Given the description of an element on the screen output the (x, y) to click on. 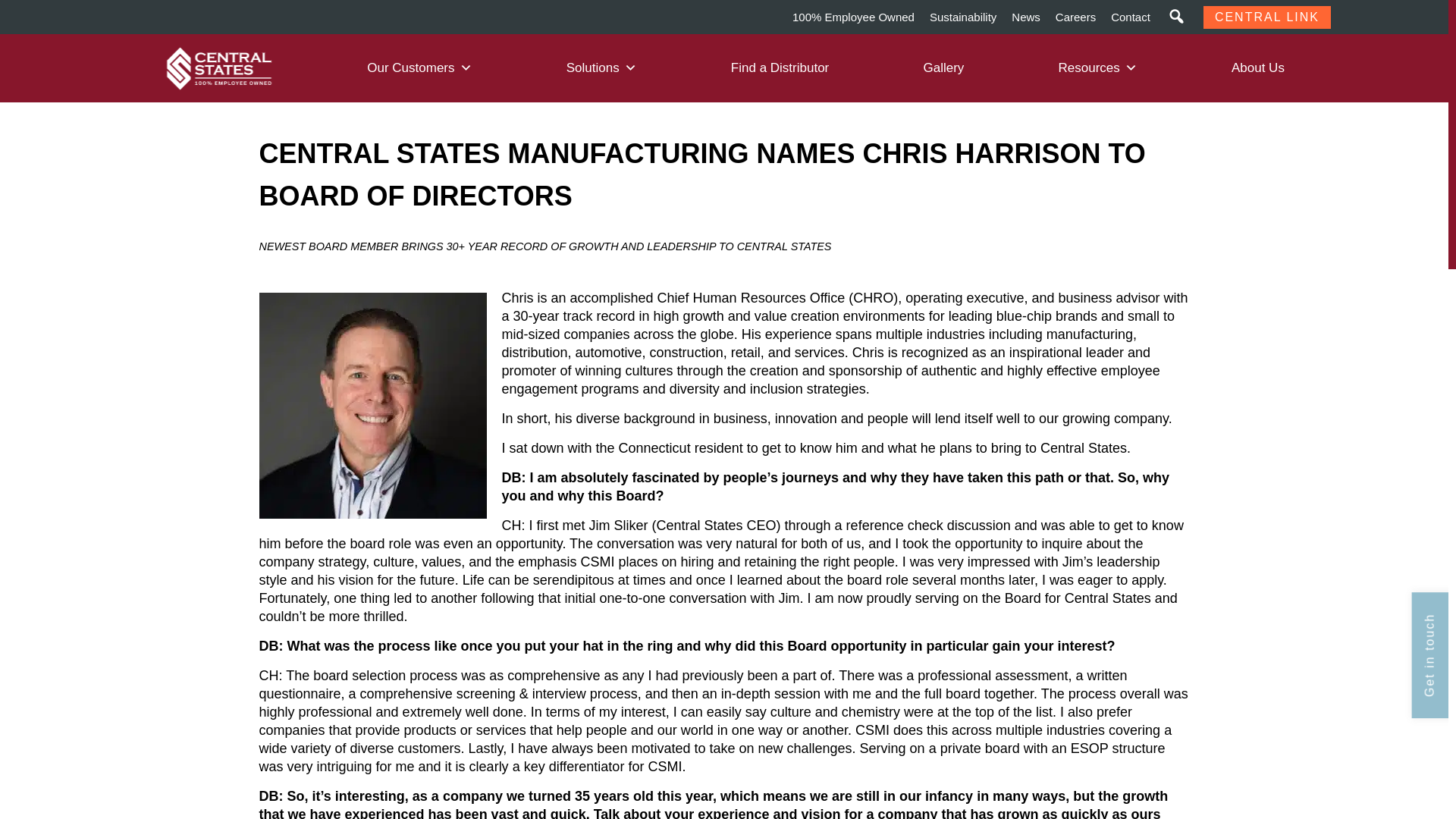
Our Customers (418, 68)
CENTRAL LINK (1267, 16)
Sustainability (962, 16)
Careers (1075, 16)
News (1026, 16)
Solutions (600, 68)
Search (18, 18)
Contact (1130, 16)
